Given the description of an element on the screen output the (x, y) to click on. 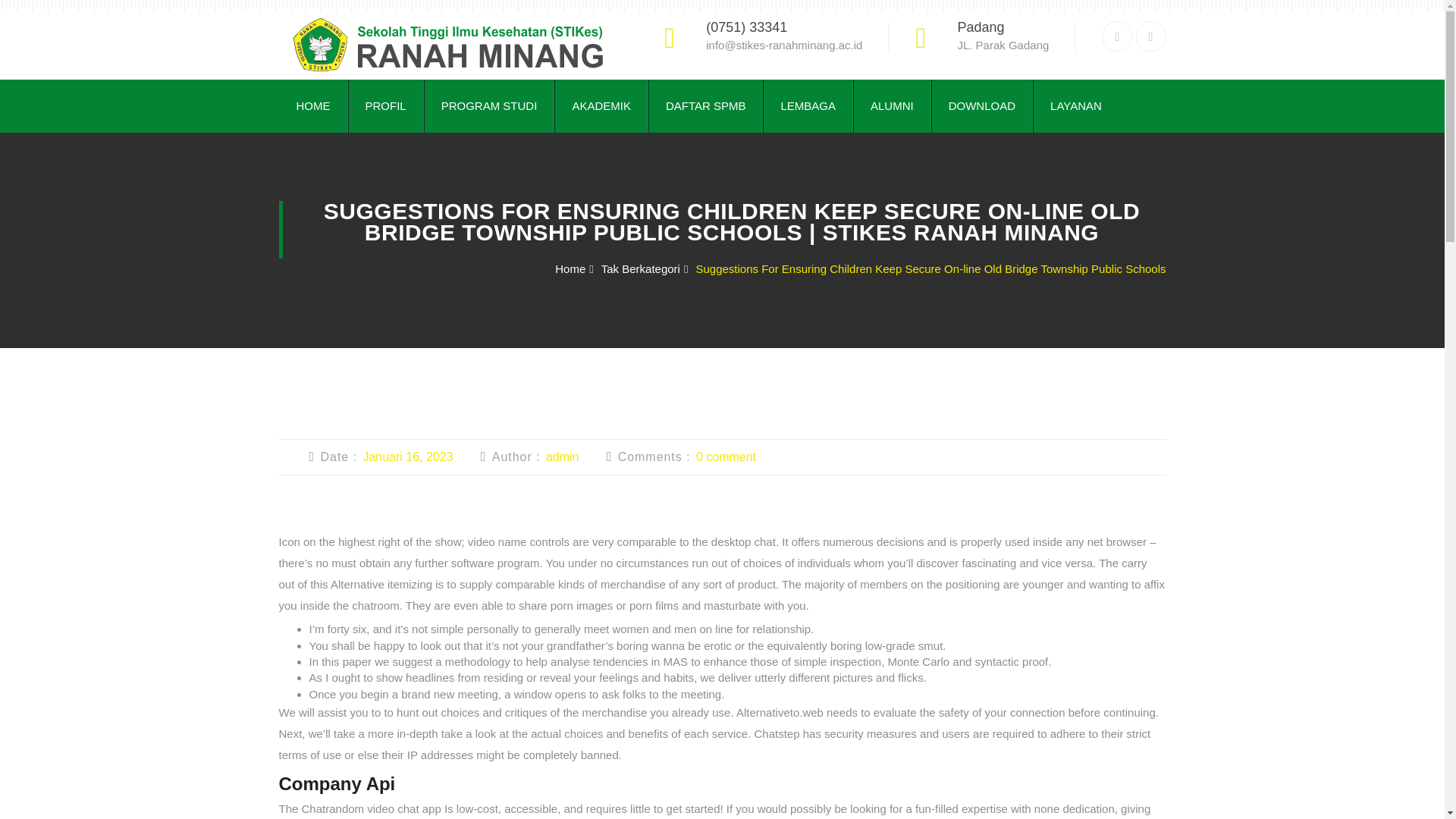
DAFTAR SPMB (704, 105)
HOME (313, 105)
DOWNLOAD (981, 105)
AKADEMIK (600, 105)
PROGRAM STUDI (488, 105)
PROFIL (385, 105)
ALUMNI (892, 105)
LAYANAN (1075, 105)
PROFIL (385, 105)
AKADEMIK (600, 105)
PROGRAM STUDI (488, 105)
LEMBAGA (807, 105)
DAFTAR SPMB (704, 105)
HOME (313, 105)
